Given the description of an element on the screen output the (x, y) to click on. 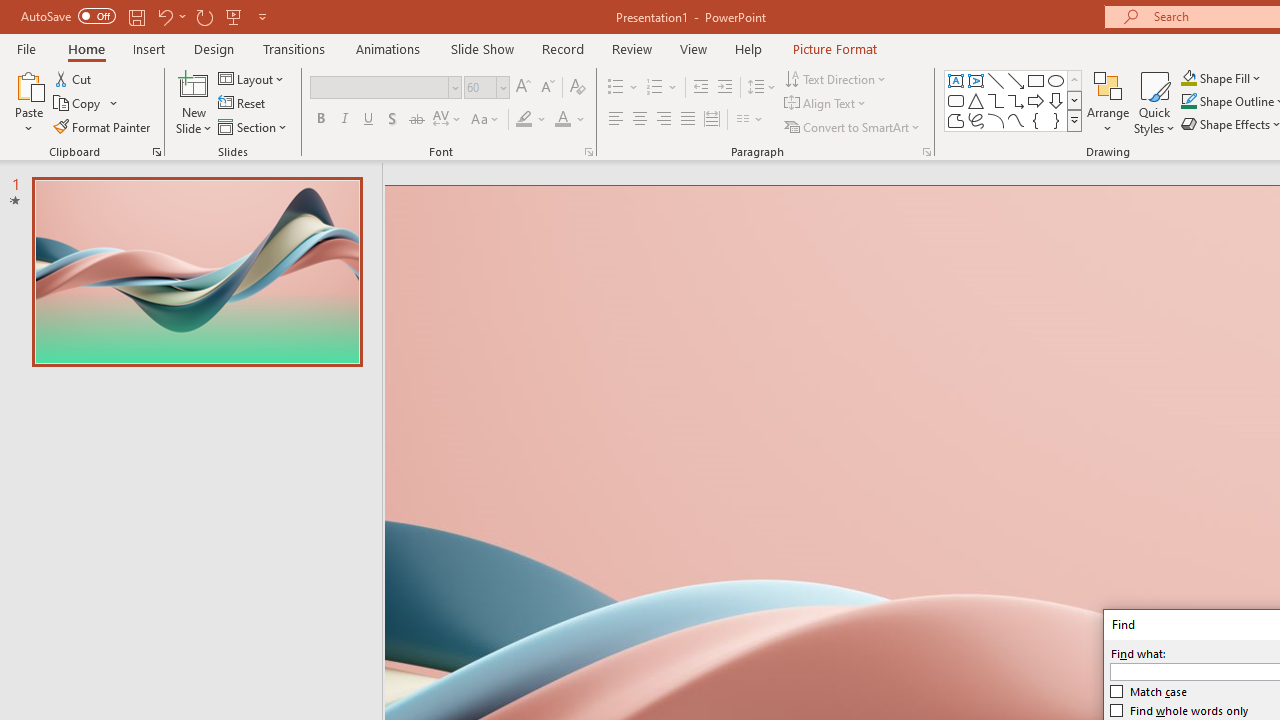
Align Right (663, 119)
Text Highlight Color Yellow (524, 119)
Right Brace (1055, 120)
Font Color Red (562, 119)
Bold (320, 119)
Picture Format (834, 48)
Layout (252, 78)
